Given the description of an element on the screen output the (x, y) to click on. 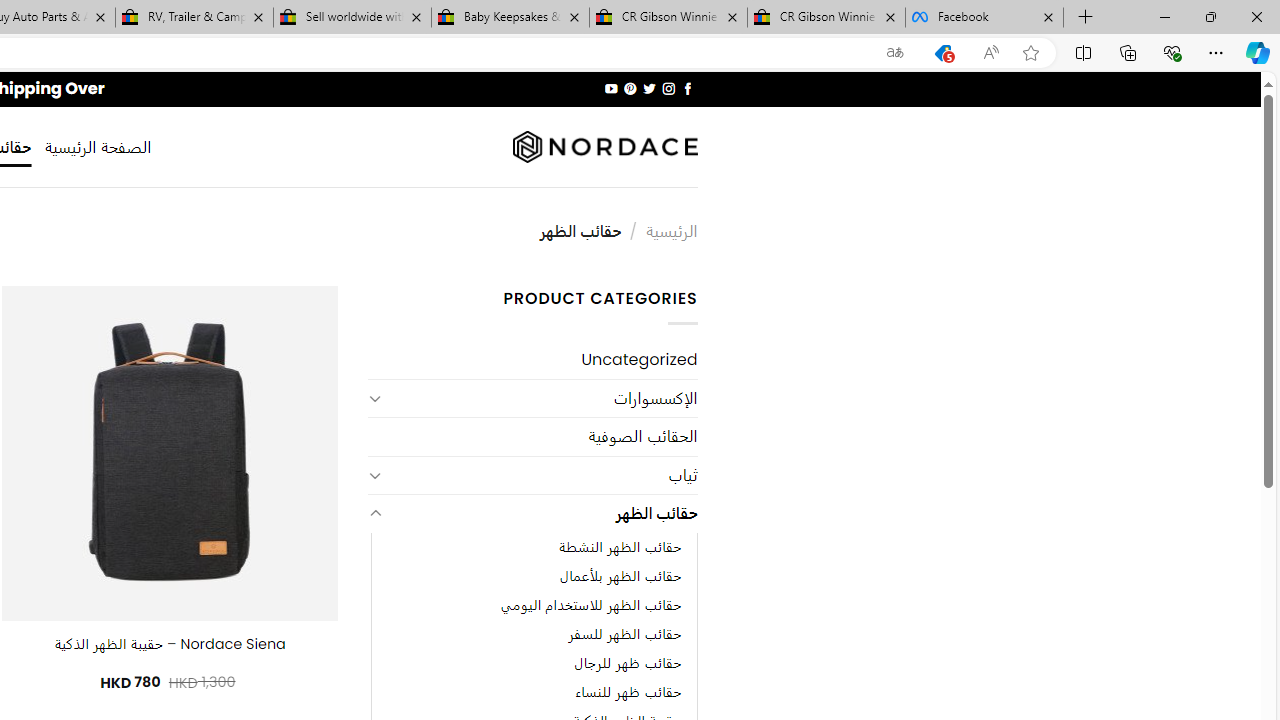
Follow on YouTube (611, 88)
Facebook (984, 17)
